Given the description of an element on the screen output the (x, y) to click on. 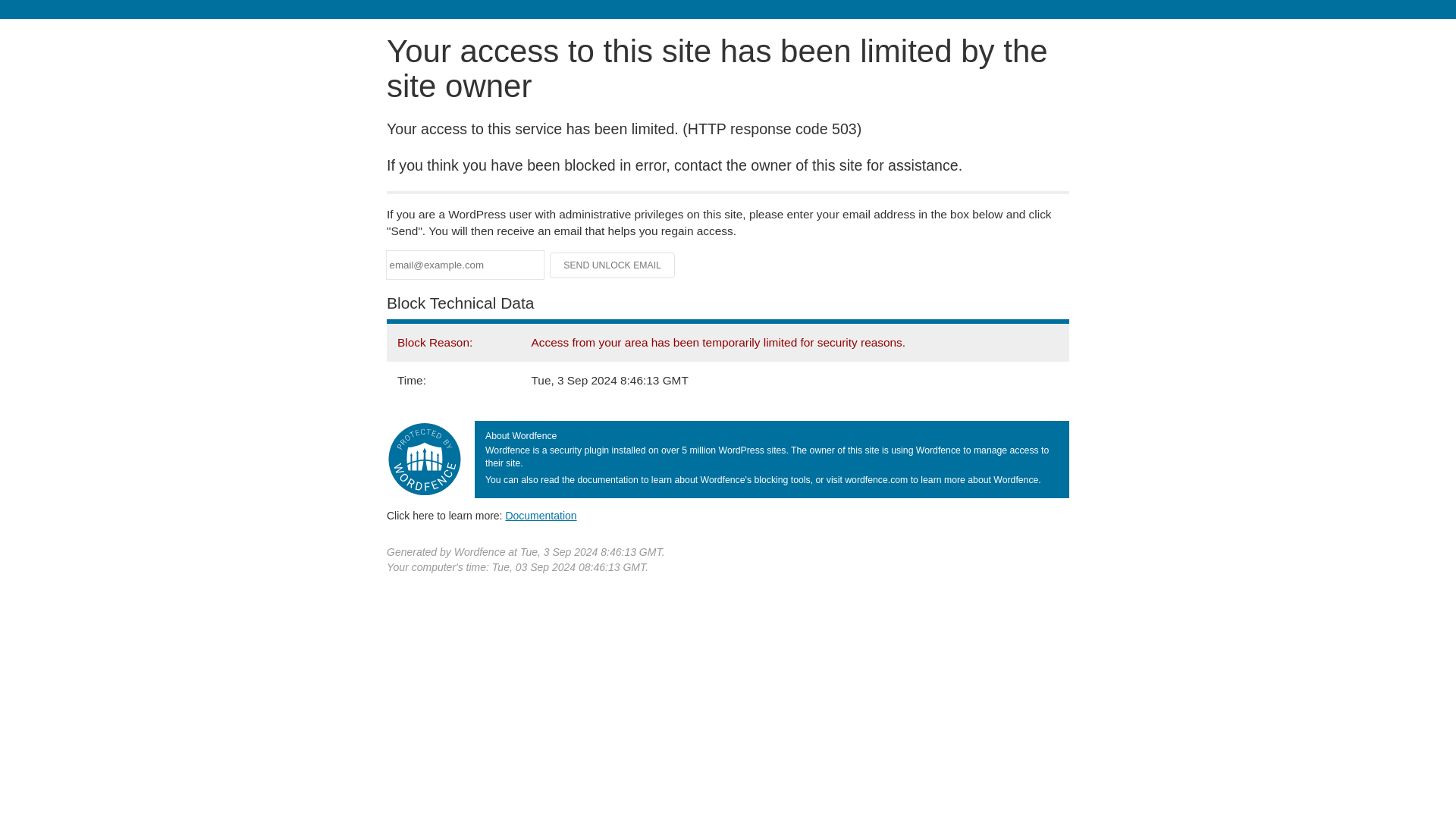
Send Unlock Email (612, 265)
Documentation (540, 515)
Send Unlock Email (612, 265)
